Given the description of an element on the screen output the (x, y) to click on. 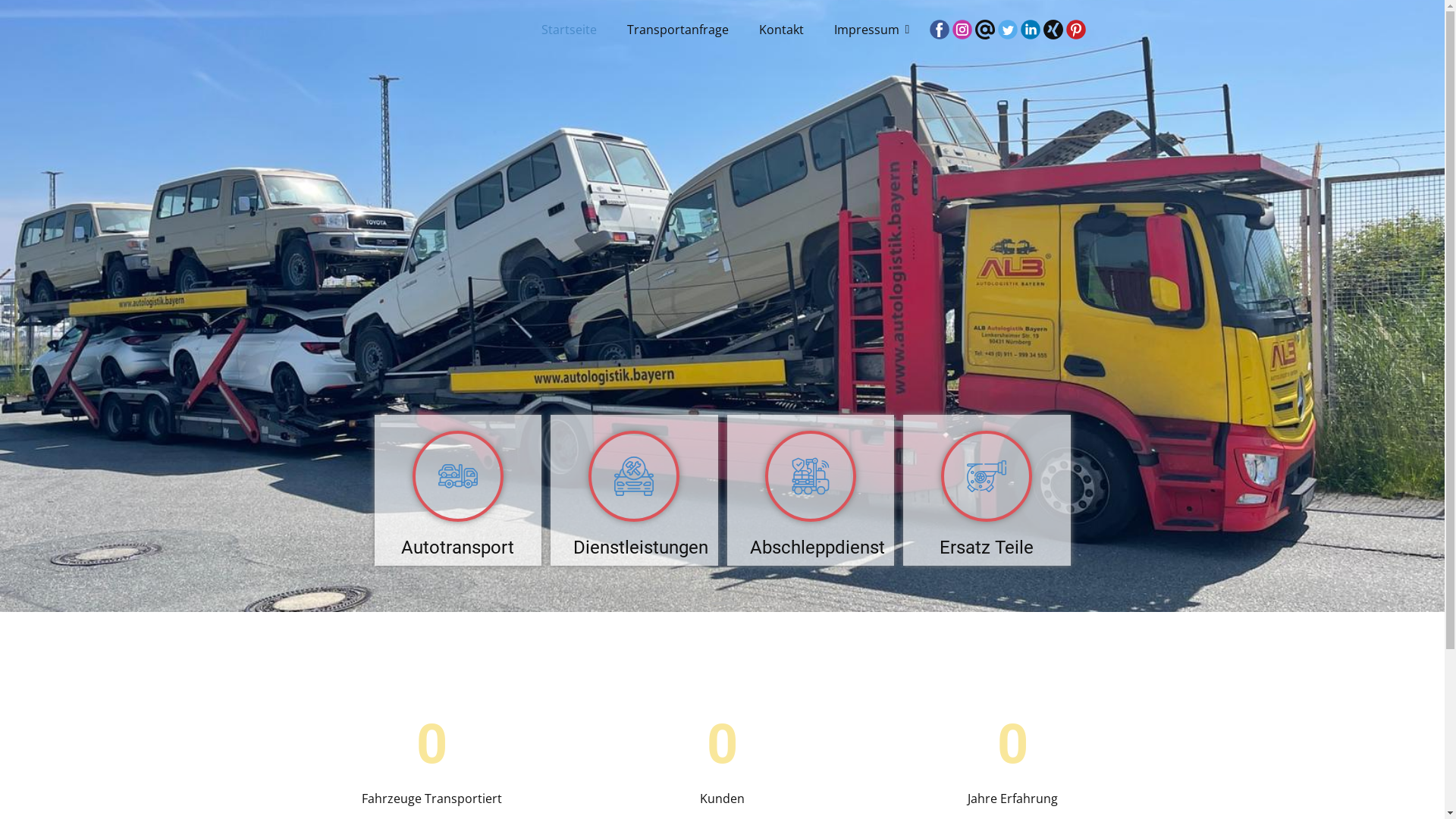
LinkedIn Element type: hover (1030, 29)
KFZ Ersatzteile Element type: hover (986, 475)
Impressum Element type: text (869, 29)
Kontakt Element type: text (781, 29)
Mail Element type: hover (984, 29)
Transportanfrage Element type: text (677, 29)
instagram Element type: hover (962, 29)
Twitter Element type: hover (1007, 29)
Startseite Element type: text (568, 29)
Pinterest Element type: hover (1075, 29)
facebook Element type: hover (939, 29)
Xing Element type: hover (1053, 29)
